Given the description of an element on the screen output the (x, y) to click on. 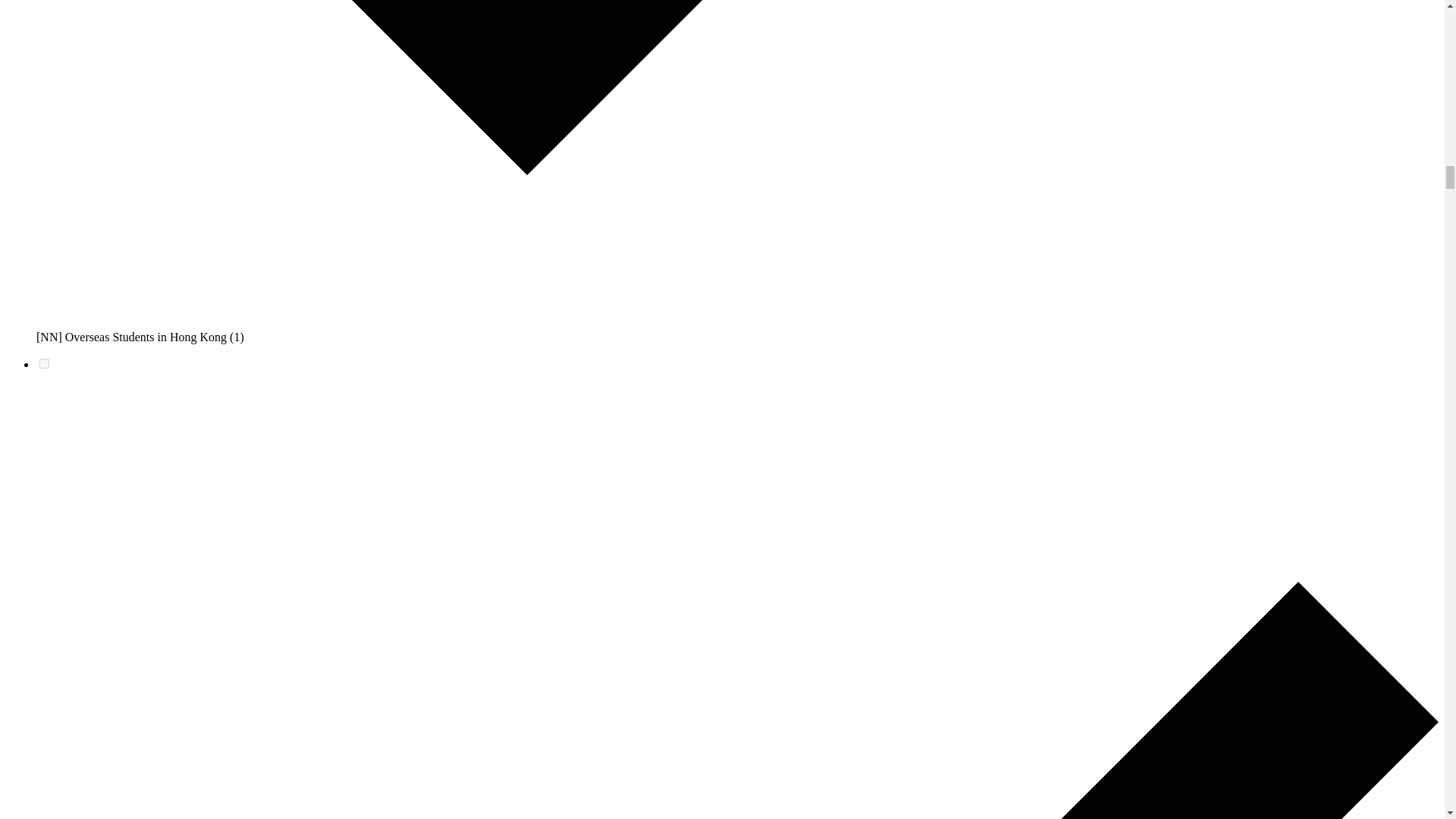
137 (44, 363)
